Given the description of an element on the screen output the (x, y) to click on. 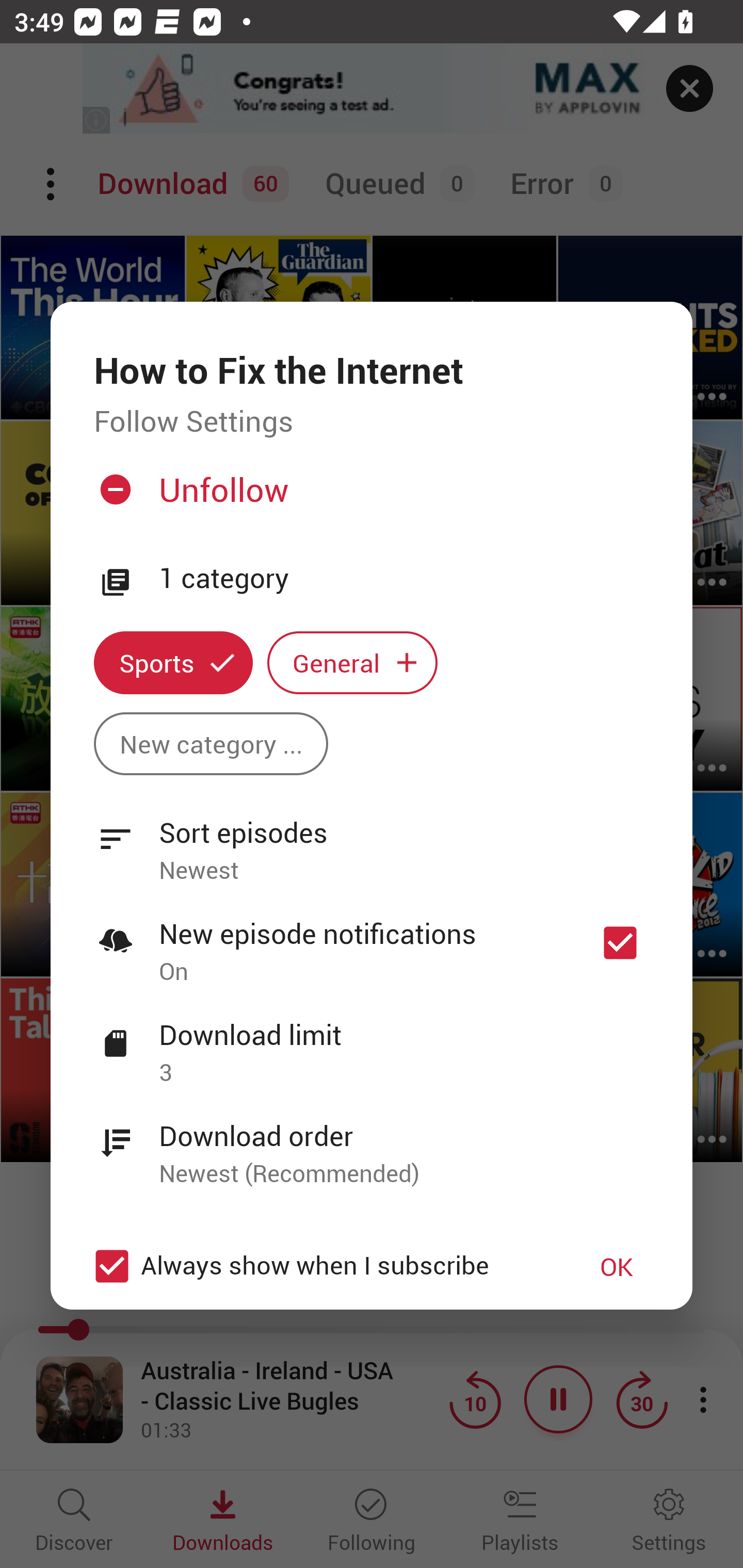
Unfollow (369, 496)
1 category (404, 578)
Sports (172, 662)
General (352, 662)
New category ... (210, 742)
Sort episodes Newest (371, 840)
New episode notifications (620, 943)
Download limit 3 (371, 1042)
Download order Newest (Recommended) (371, 1143)
OK (616, 1266)
Always show when I subscribe (320, 1266)
